Given the description of an element on the screen output the (x, y) to click on. 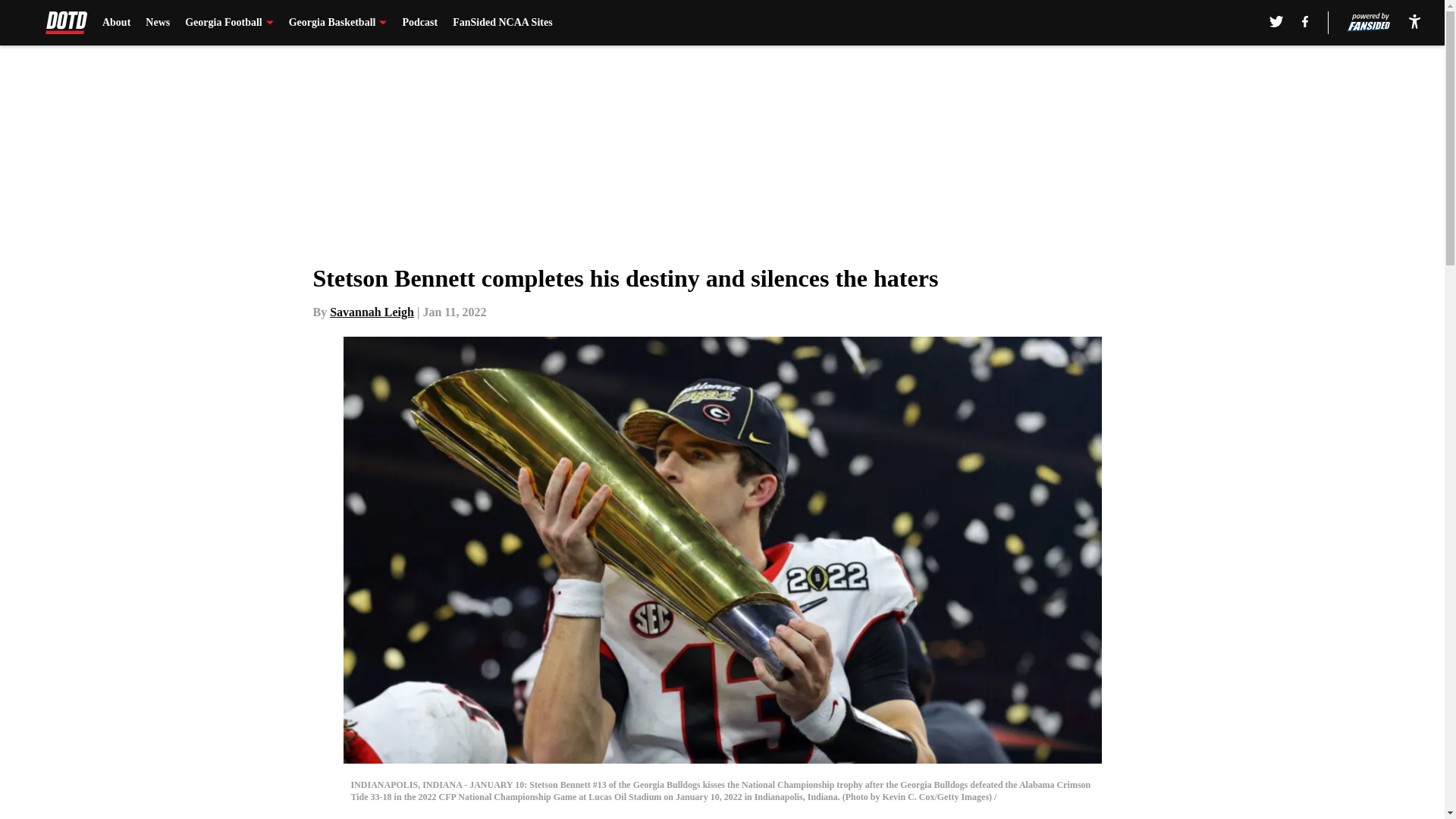
News (157, 22)
Podcast (419, 22)
FanSided NCAA Sites (501, 22)
About (116, 22)
Savannah Leigh (371, 311)
